Given the description of an element on the screen output the (x, y) to click on. 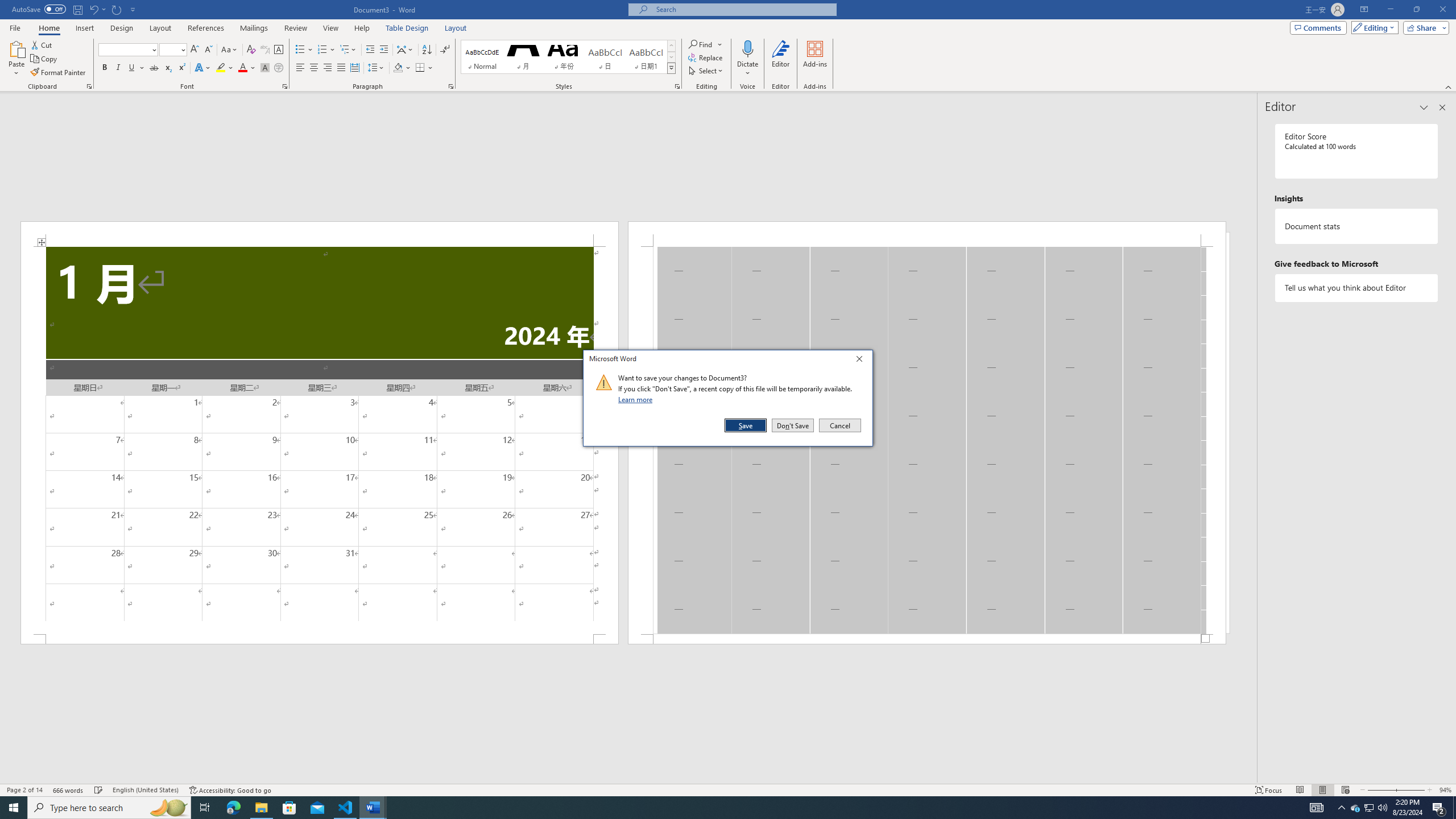
Tell us what you think about Editor (1356, 288)
Learn more (636, 399)
Page Number Page 2 of 14 (24, 790)
